Given the description of an element on the screen output the (x, y) to click on. 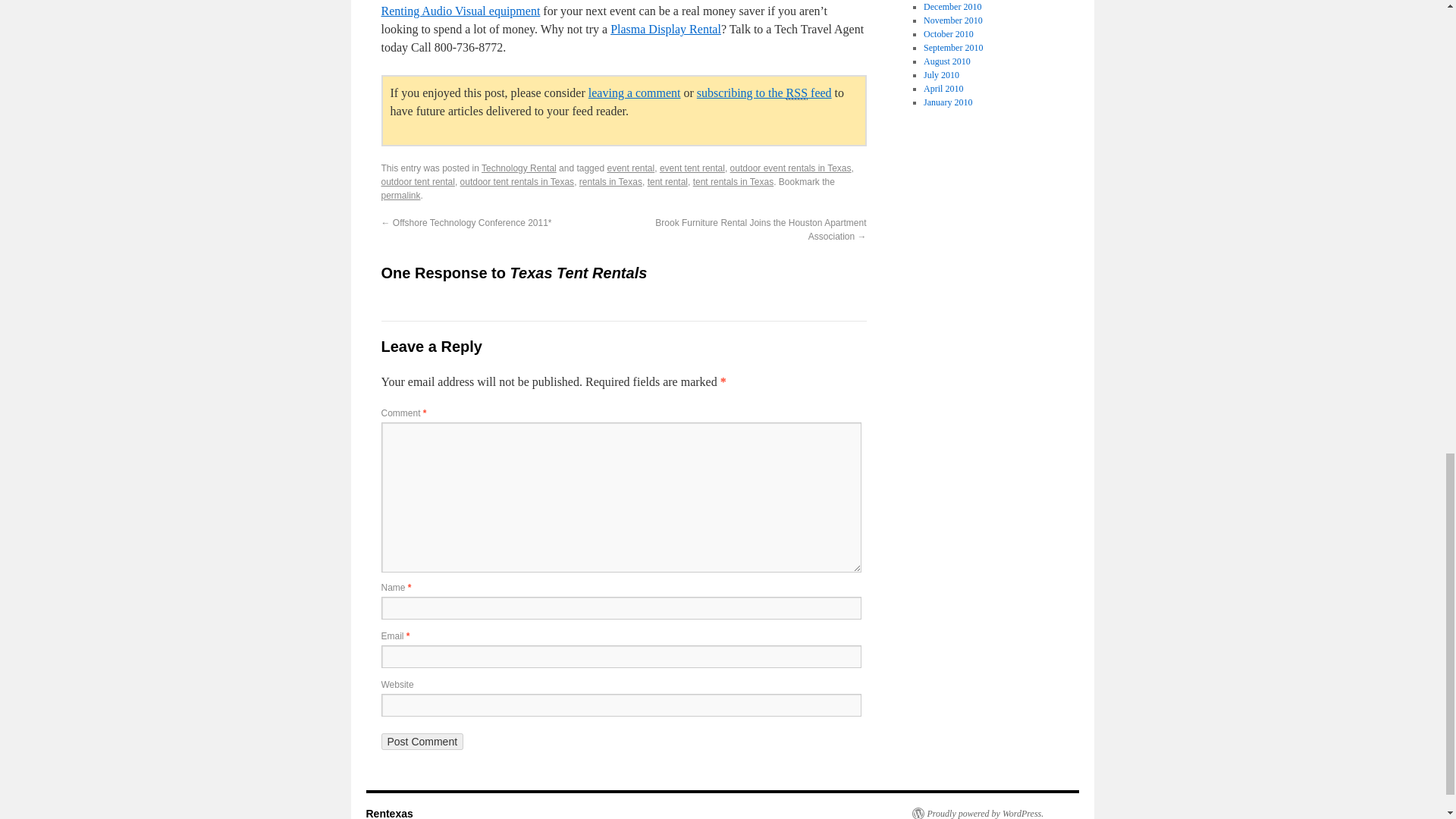
event tent rental (692, 167)
event rental (630, 167)
rentals in Texas (610, 181)
tent rentals in Texas (733, 181)
outdoor tent rental (417, 181)
Technology Rental (518, 167)
tent rental (667, 181)
Permalink to Texas Tent Rentals (400, 195)
subscribing to the RSS feed (764, 92)
Renting Audio Visual equipment (460, 10)
Post Comment (421, 741)
outdoor tent rentals in Texas (517, 181)
Post Comment (421, 741)
Syndicate this site using RSS (764, 92)
leaving a comment (634, 92)
